Given the description of an element on the screen output the (x, y) to click on. 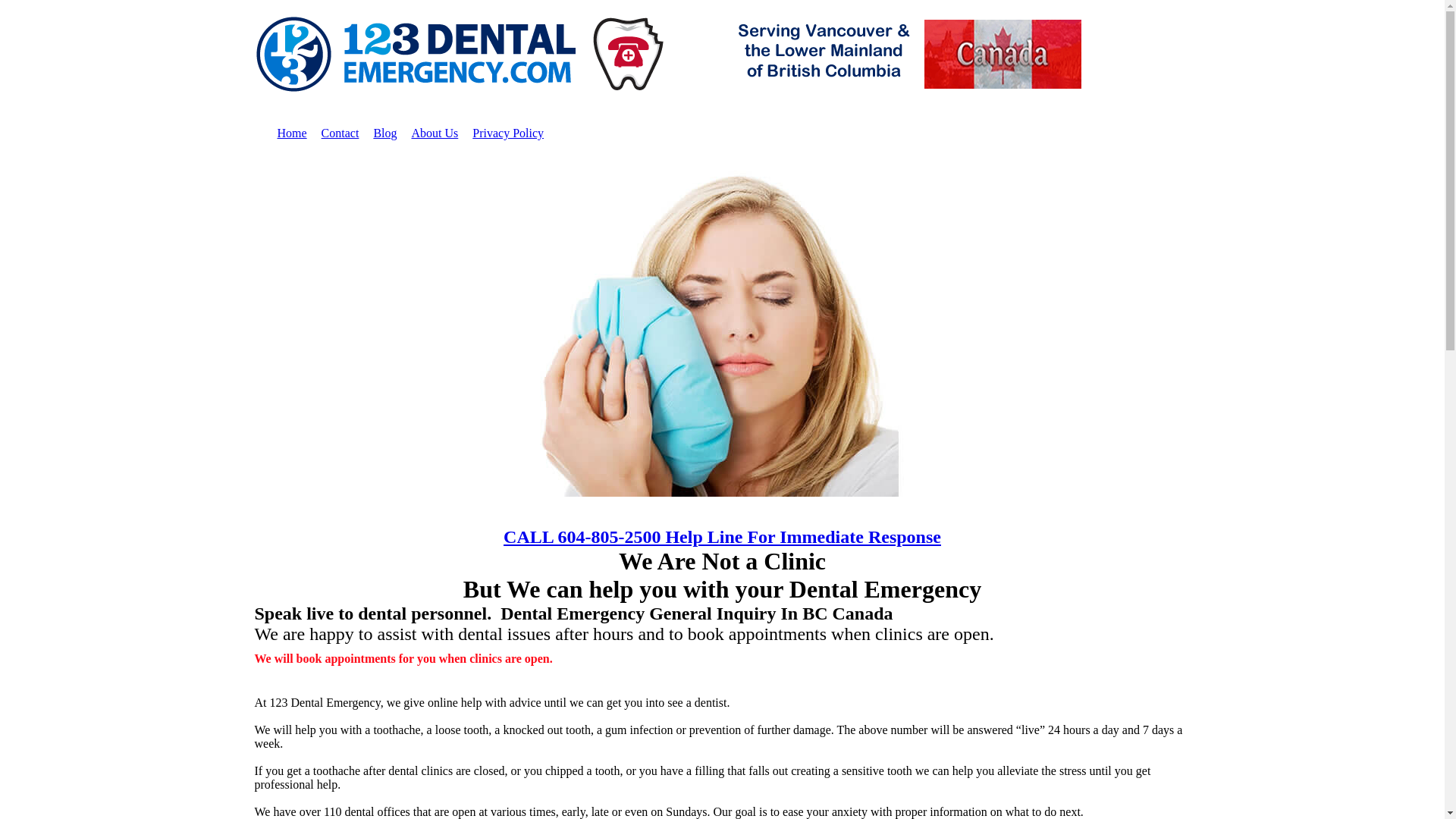
About Us Element type: text (434, 132)
Home Element type: text (292, 132)
Privacy Policy Element type: text (507, 132)
Contact Element type: text (340, 132)
CALL 604-805-2500 Help Line For Immediate Response Element type: text (722, 536)
Blog Element type: text (384, 132)
